Given the description of an element on the screen output the (x, y) to click on. 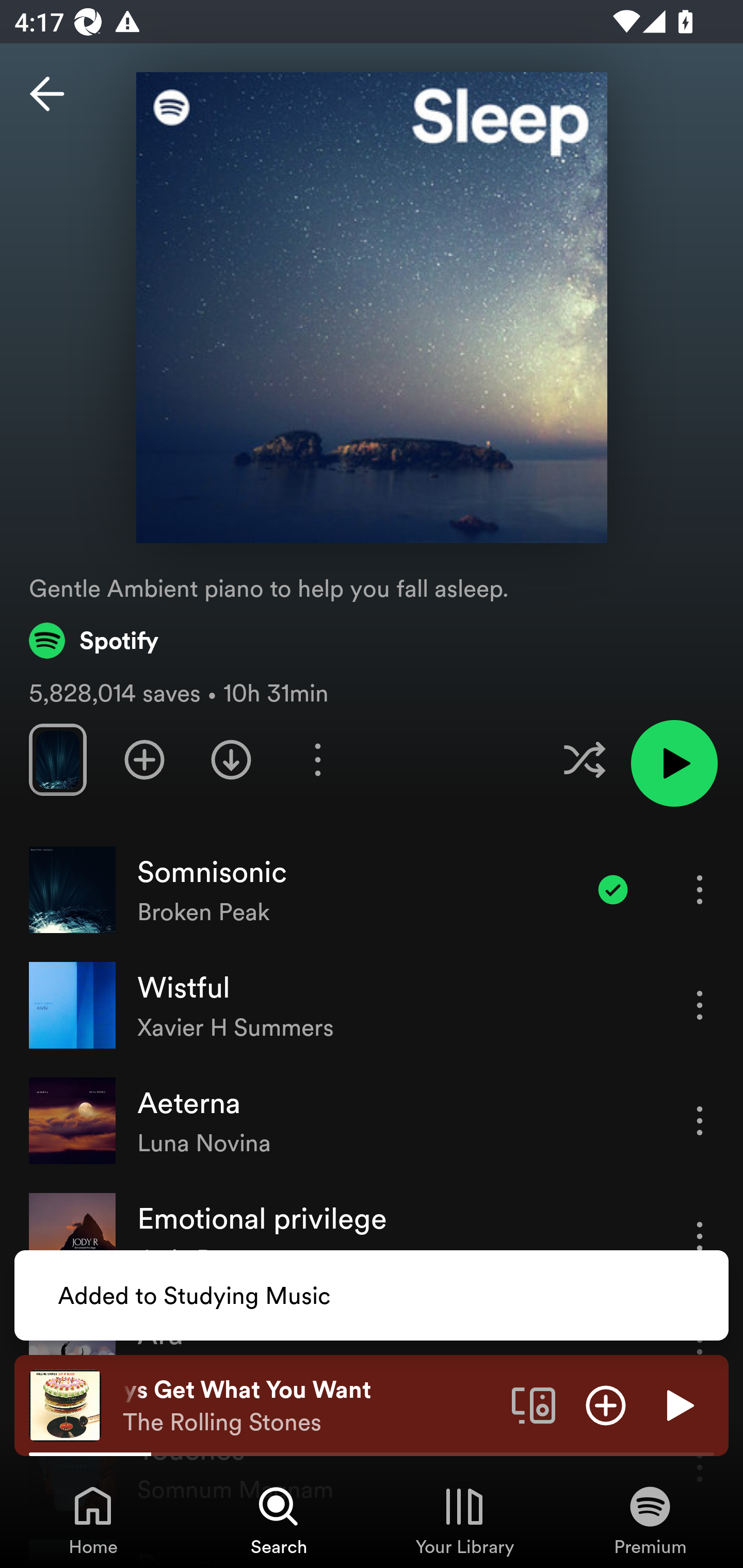
Back (46, 93)
Spotify (93, 640)
Swipe through previews of tracks in this playlist. (57, 759)
Add playlist to Your Library (144, 759)
Download (230, 759)
More options for playlist Sleep (317, 759)
Enable shuffle for this playlist (583, 759)
Play playlist (674, 763)
Item added (612, 889)
More options for song Somnisonic (699, 889)
More options for song Wistful (699, 1004)
Aeterna Luna Novina More options for song Aeterna (371, 1121)
More options for song Aeterna (699, 1120)
More options for song Emotional privilege (699, 1236)
The cover art of the currently playing track (64, 1404)
Connect to a device. Opens the devices menu (533, 1404)
Add item (605, 1404)
Play (677, 1404)
Home, Tab 1 of 4 Home Home (92, 1519)
Search, Tab 2 of 4 Search Search (278, 1519)
Your Library, Tab 3 of 4 Your Library Your Library (464, 1519)
Premium, Tab 4 of 4 Premium Premium (650, 1519)
